Given the description of an element on the screen output the (x, y) to click on. 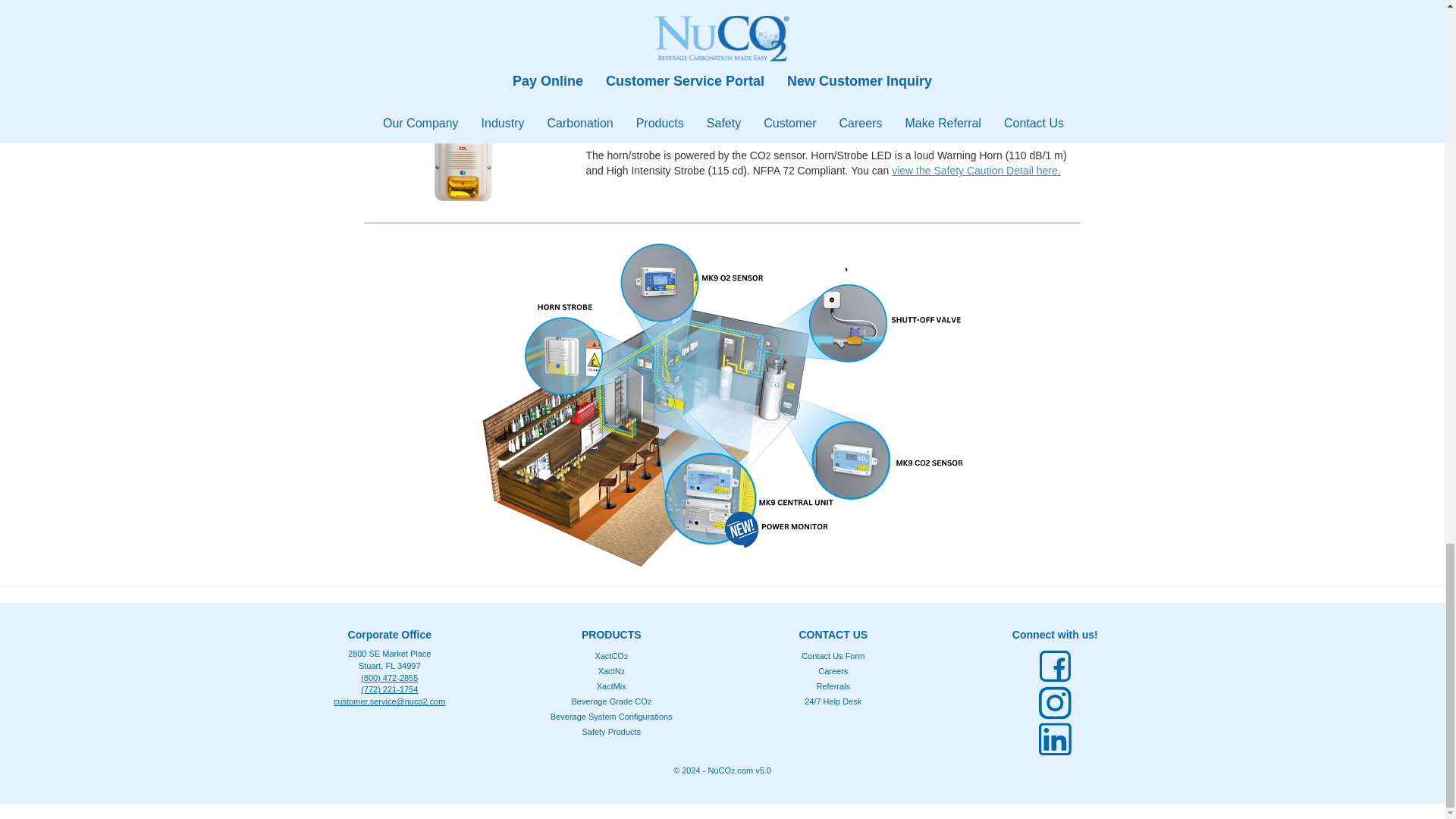
LinkedIn (1054, 739)
Facebook (1054, 666)
Instagram (1054, 702)
